Given the description of an element on the screen output the (x, y) to click on. 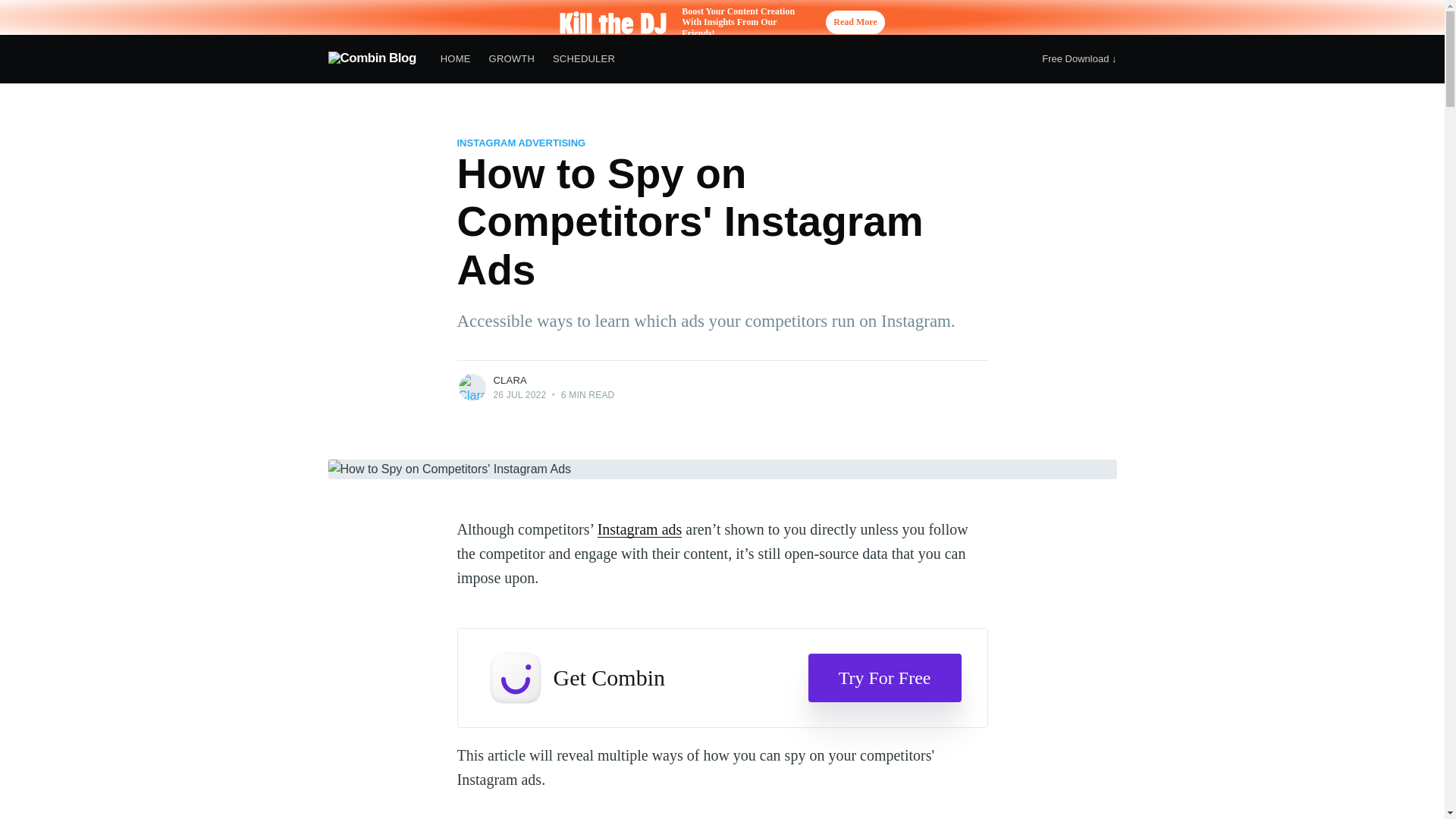
SCHEDULER (583, 59)
CLARA (509, 379)
Instagram ads (639, 528)
Try For Free (884, 677)
HOME (455, 59)
INSTAGRAM ADVERTISING (521, 142)
GROWTH (511, 59)
